Given the description of an element on the screen output the (x, y) to click on. 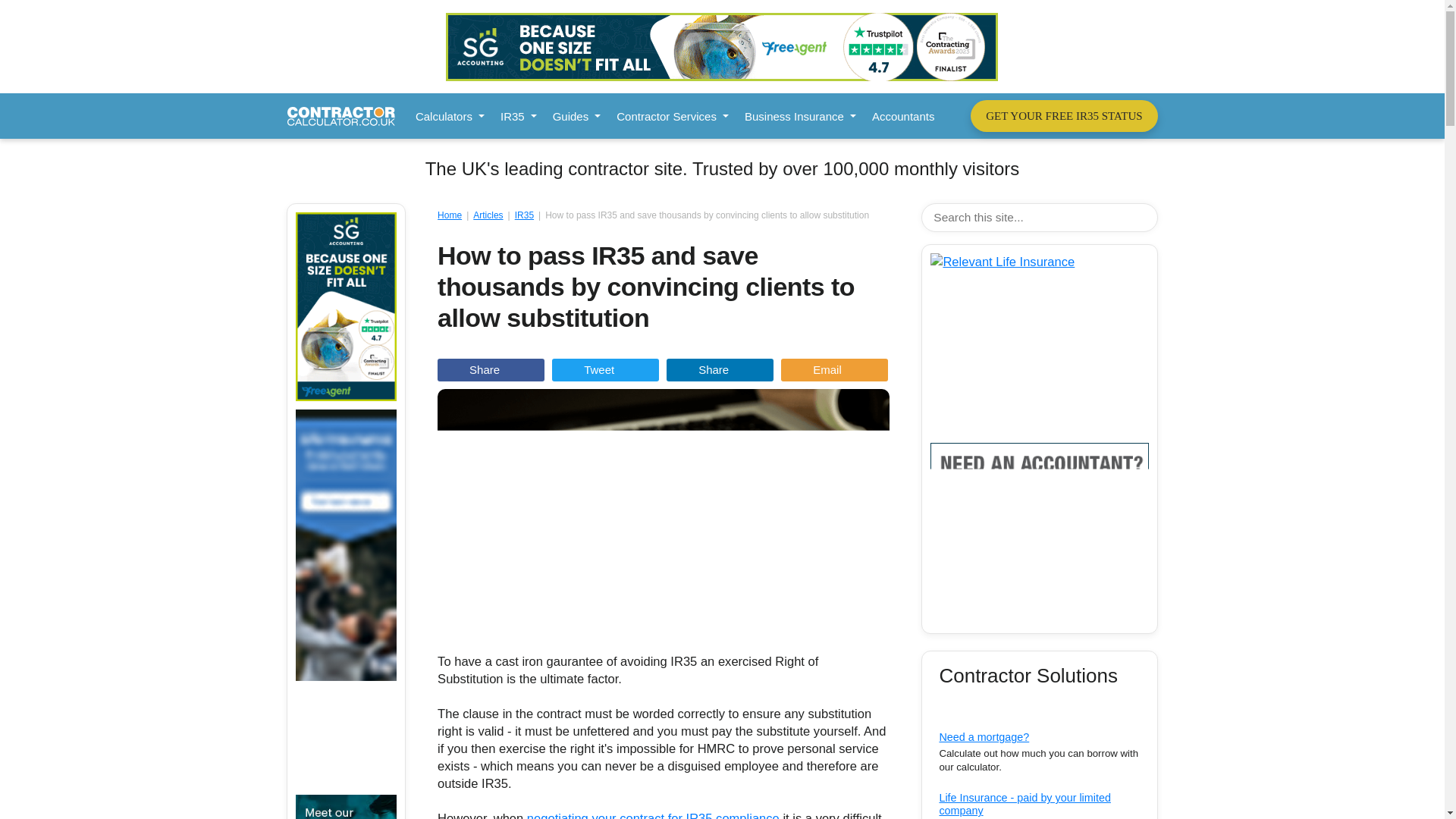
Calculators (448, 115)
Negotiating your contract for IR35 compliance (652, 815)
IR35 (518, 115)
Guides (576, 115)
